Given the description of an element on the screen output the (x, y) to click on. 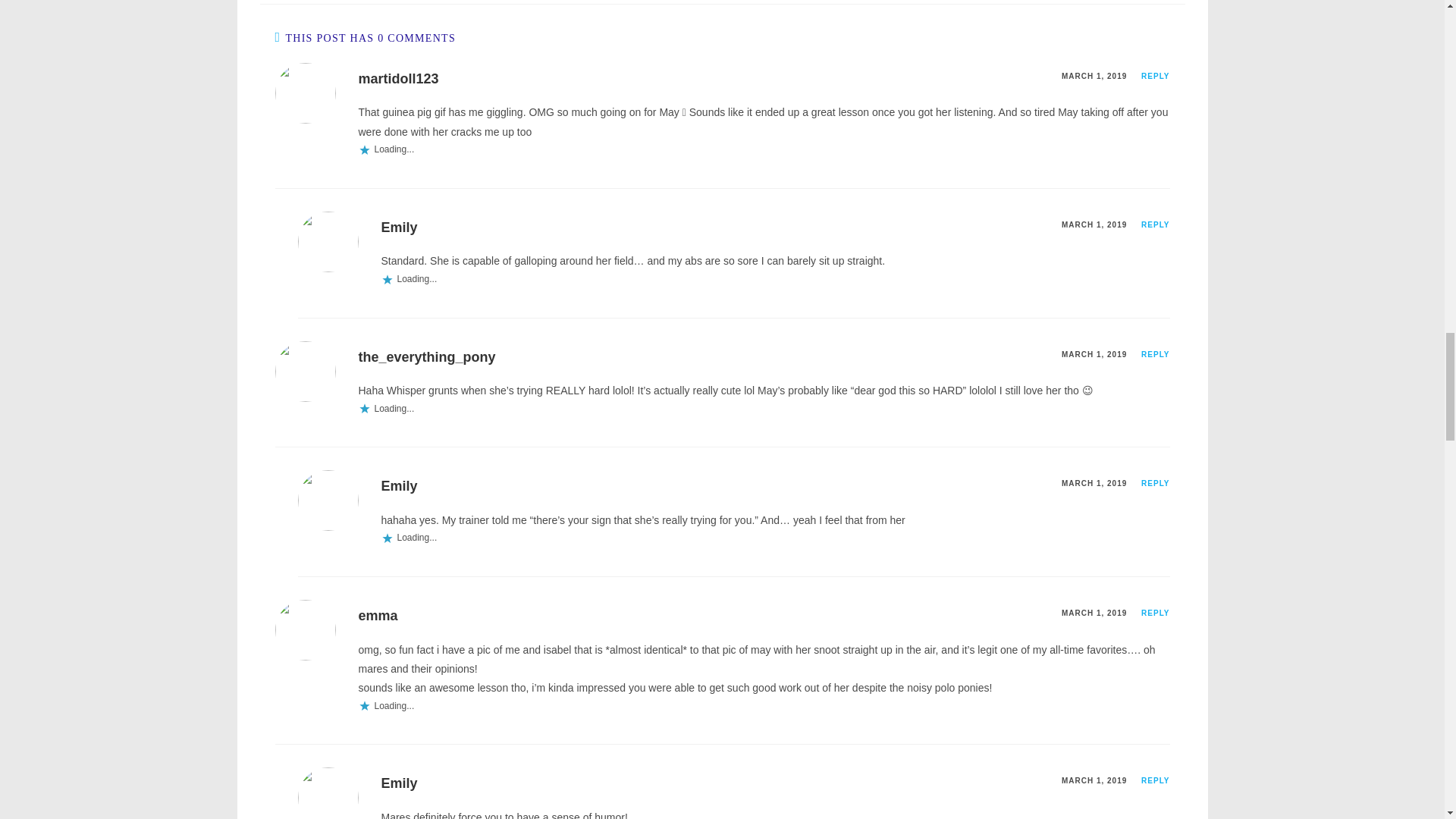
REPLY (1155, 224)
martidoll123 (398, 78)
REPLY (1155, 76)
Emily (398, 227)
